Given the description of an element on the screen output the (x, y) to click on. 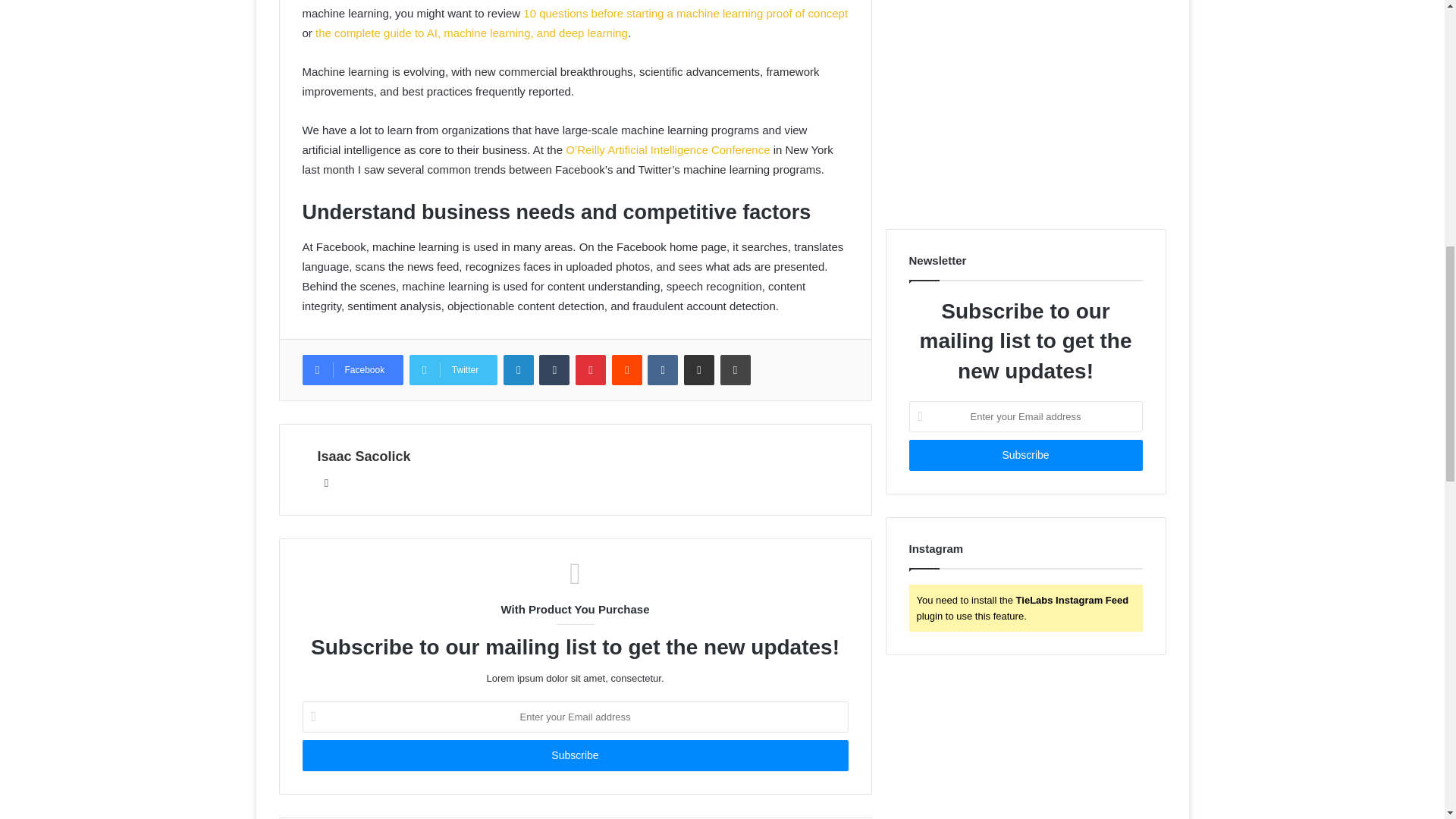
Pinterest (590, 369)
Subscribe (574, 755)
Share via Email (699, 369)
Tumblr (553, 369)
Tumblr (553, 369)
Facebook (352, 369)
Print (735, 369)
Twitter (453, 369)
